Given the description of an element on the screen output the (x, y) to click on. 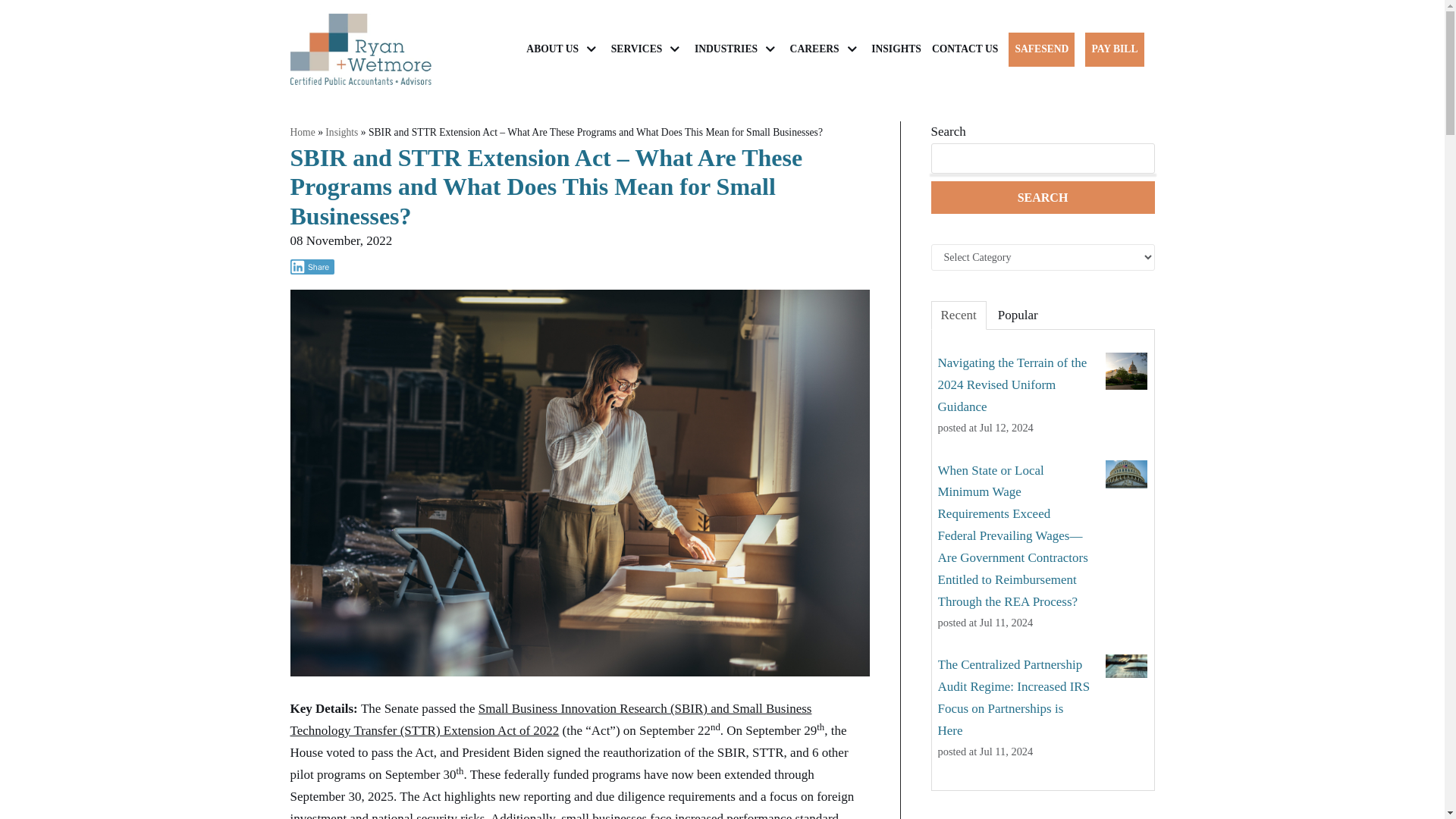
ABOUT US (562, 49)
SAFESEND (1041, 49)
CAREERS (825, 49)
SERVICES (647, 49)
Ryan Wetmore (359, 49)
INDUSTRIES (736, 49)
PAY BILL (1113, 49)
INSIGHTS (895, 49)
CONTACT US (964, 49)
